Given the description of an element on the screen output the (x, y) to click on. 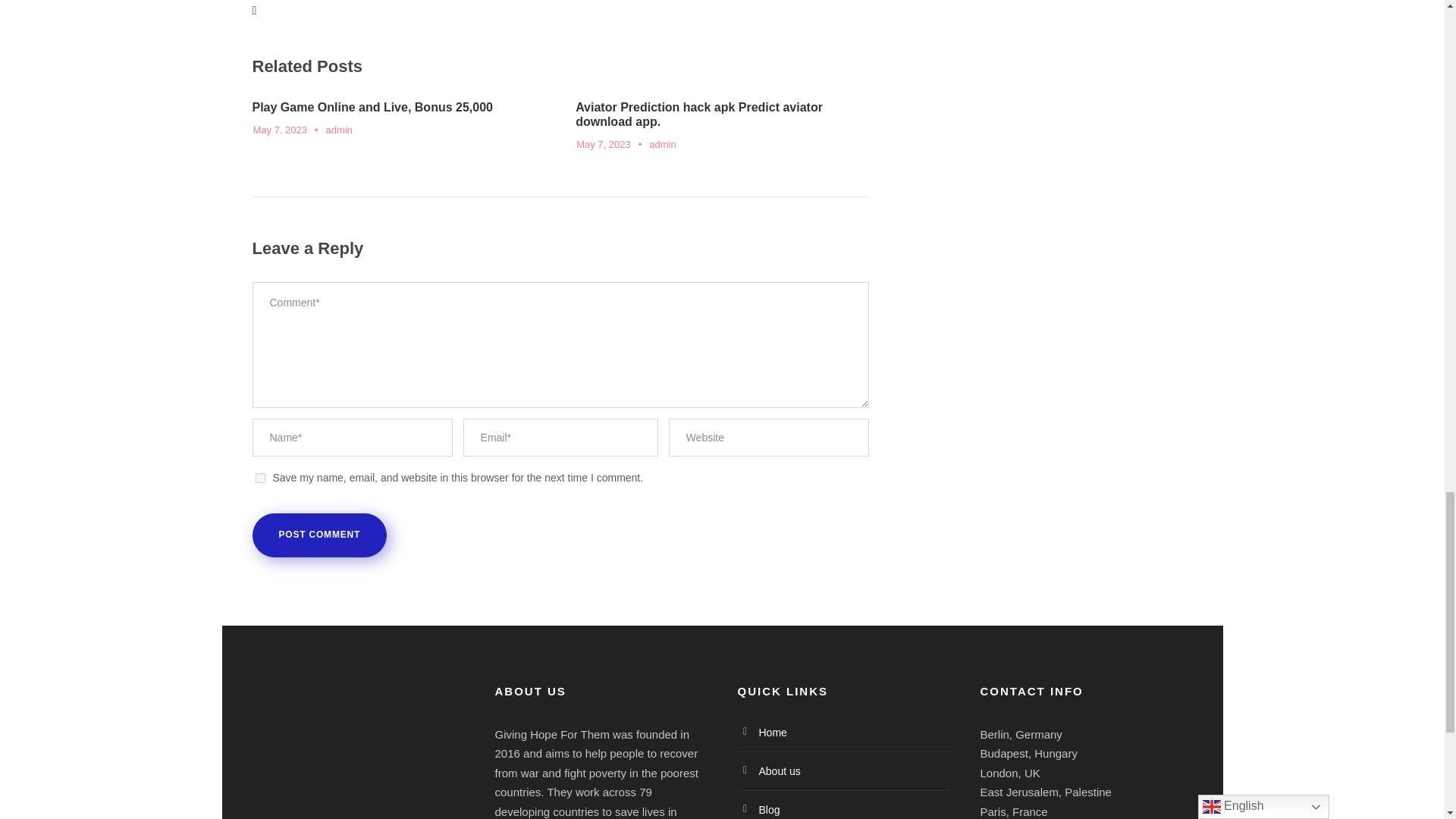
Posts by admin (339, 129)
admin (662, 143)
May 7, 2023 (603, 143)
Post Comment (319, 535)
Posts by admin (662, 143)
yes (259, 478)
Aviator Prediction hack apk Predict aviator download app. (698, 113)
Play Game Online and Live, Bonus 25,000 (371, 106)
admin (339, 129)
May 7, 2023 (280, 129)
Post Comment (319, 535)
